Given the description of an element on the screen output the (x, y) to click on. 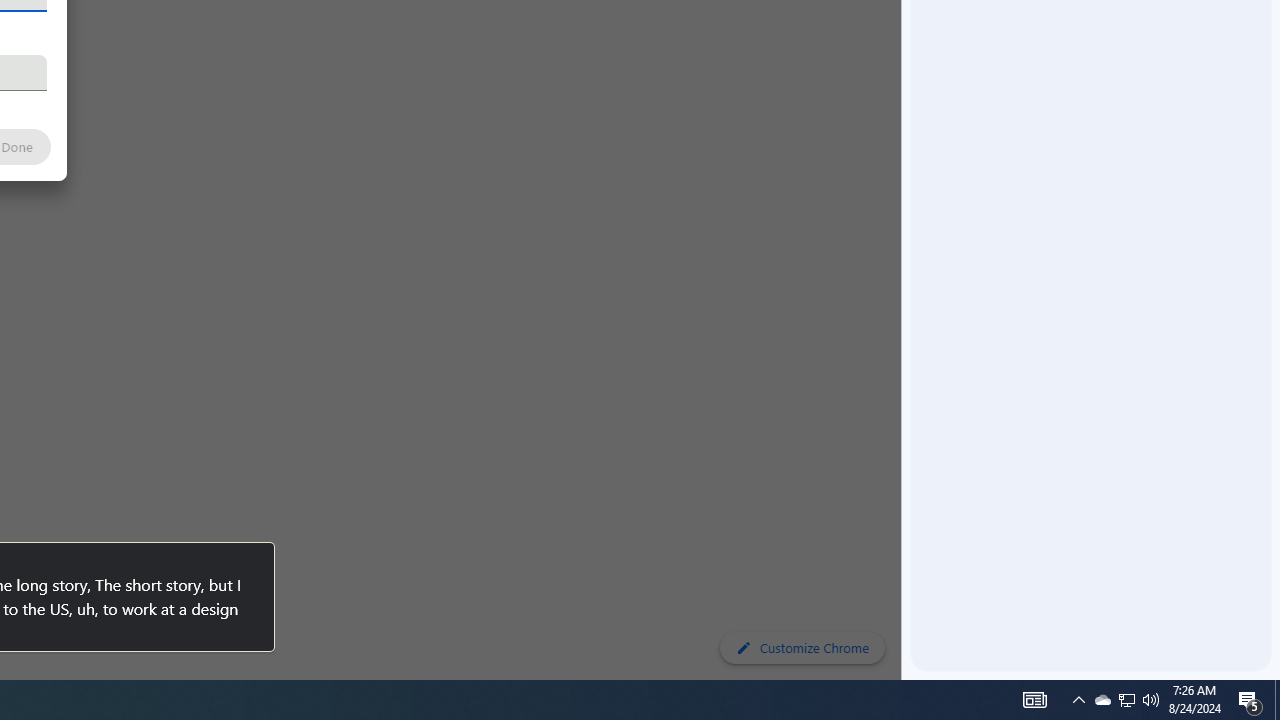
Side Panel Resize Handle (905, 39)
